Given the description of an element on the screen output the (x, y) to click on. 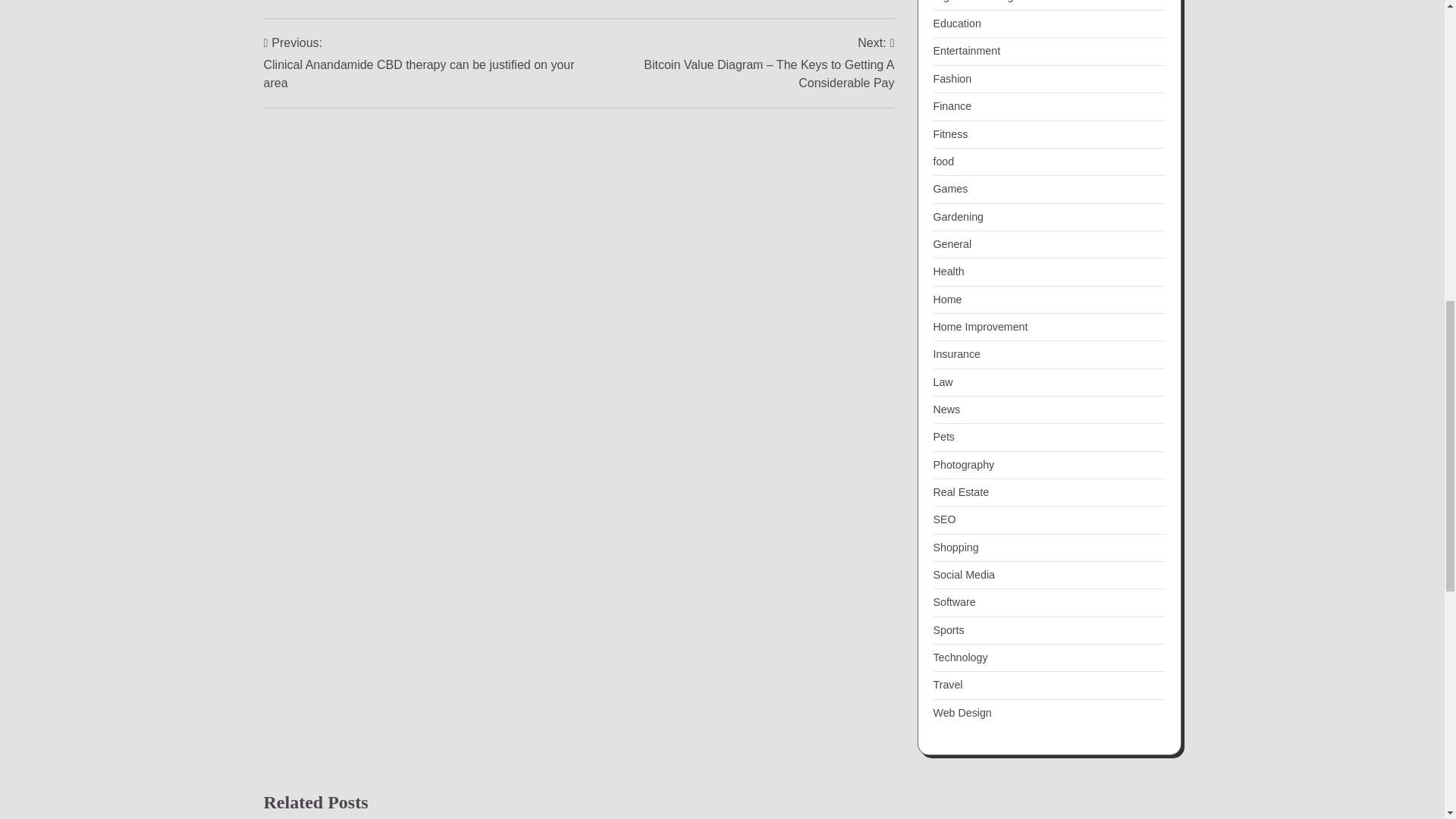
Fitness (950, 133)
Digital Marketing (973, 1)
Gardening (957, 216)
Law (942, 381)
Finance (952, 105)
Insurance (956, 354)
Education (956, 23)
Home (946, 299)
Fashion (952, 78)
Health (948, 271)
food (943, 161)
News (946, 409)
General (952, 244)
Entertainment (966, 50)
